Given the description of an element on the screen output the (x, y) to click on. 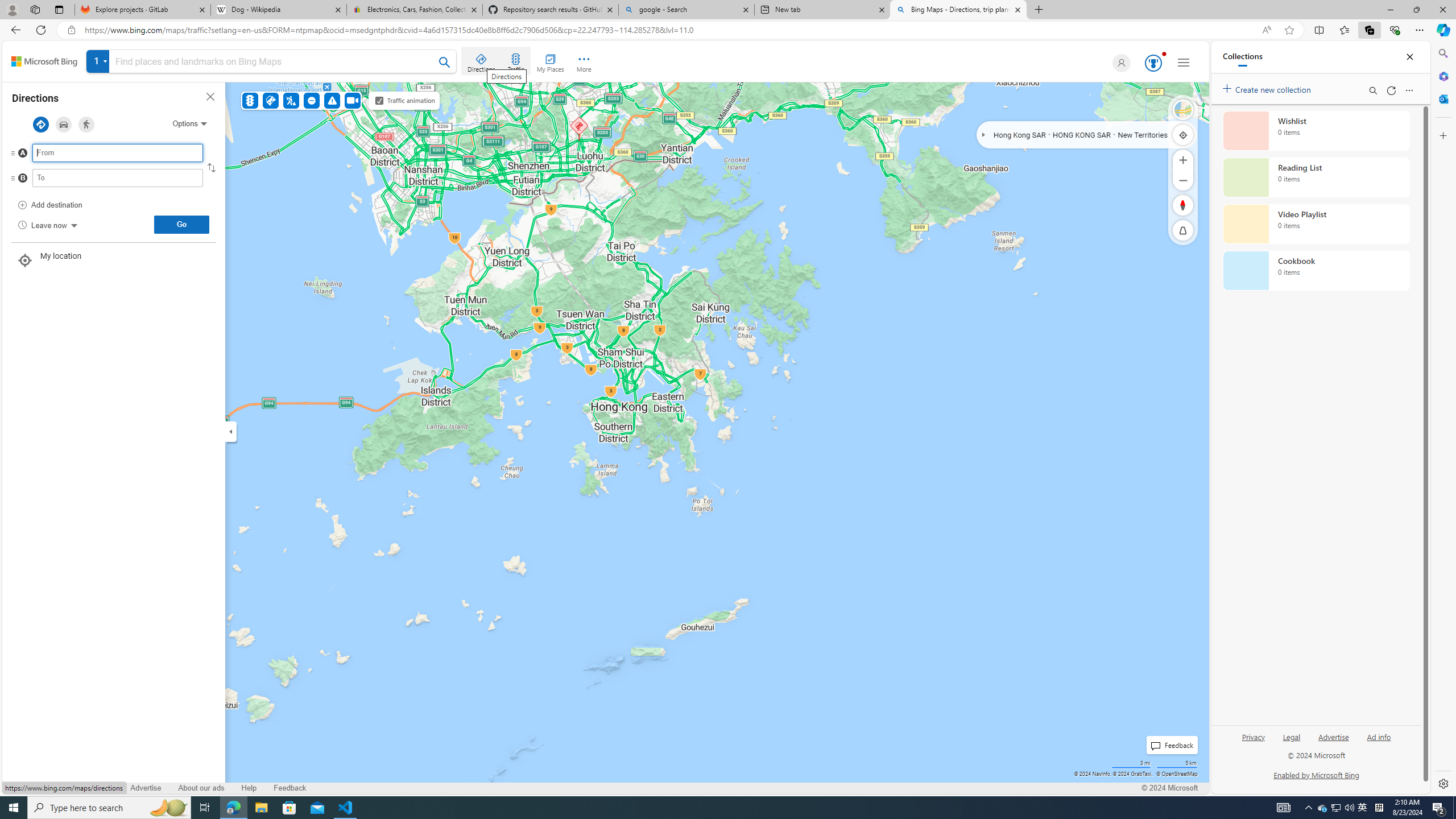
Microsoft Rewards 63 (1152, 63)
Drag to reorder (21, 178)
Expand/Collapse Cards (230, 431)
Road Closures (312, 100)
Zoom In (1182, 159)
Reset to Default Pitch (1182, 230)
About our ads (200, 787)
Walking (86, 124)
Ad info (1378, 736)
My Places (549, 60)
Road (1182, 109)
B (95, 181)
